Given the description of an element on the screen output the (x, y) to click on. 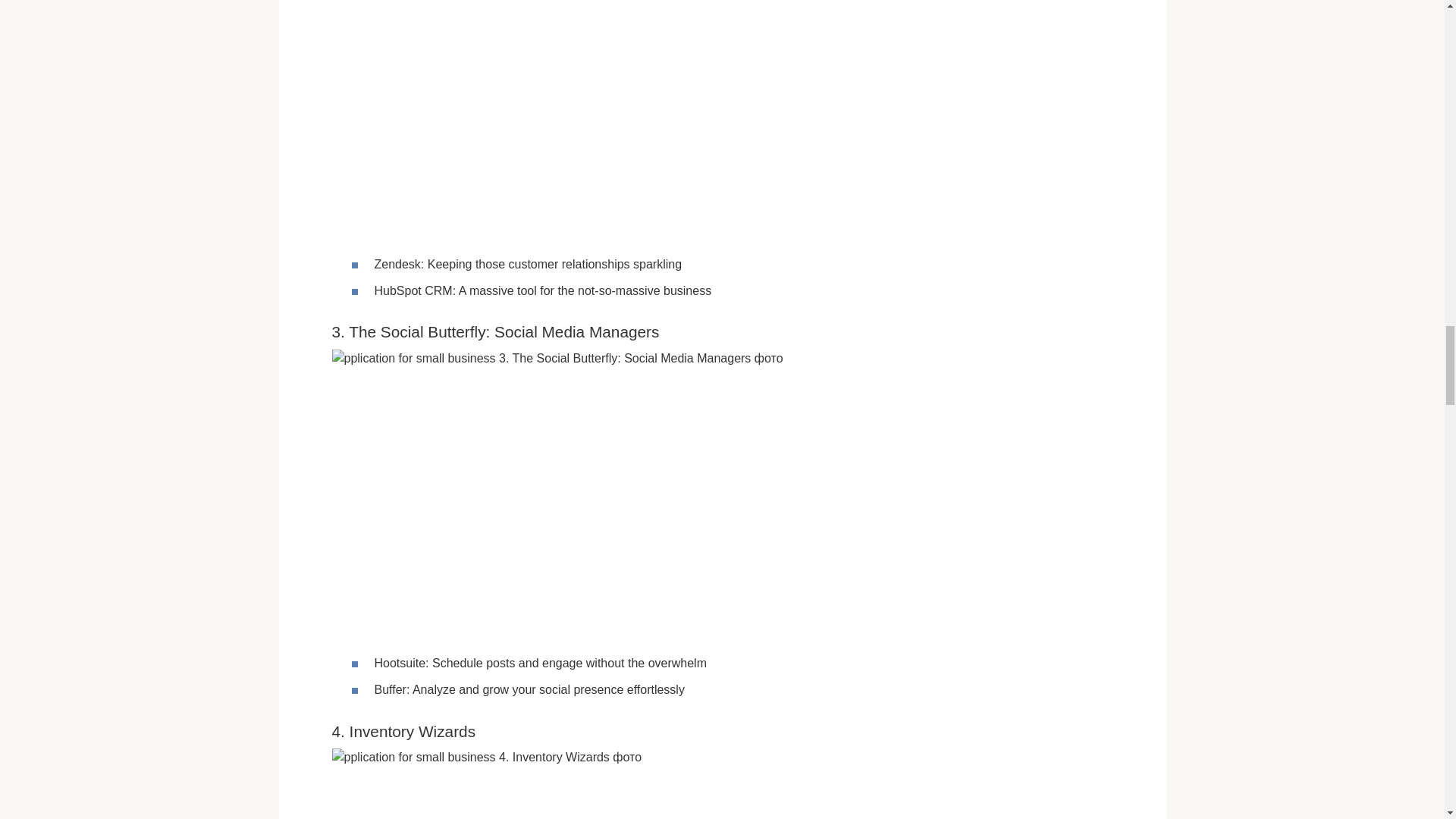
pplication for small business 4. Inventory Wizards (585, 783)
pplication for small business 2. Customer is King: CRMs (585, 117)
